Given the description of an element on the screen output the (x, y) to click on. 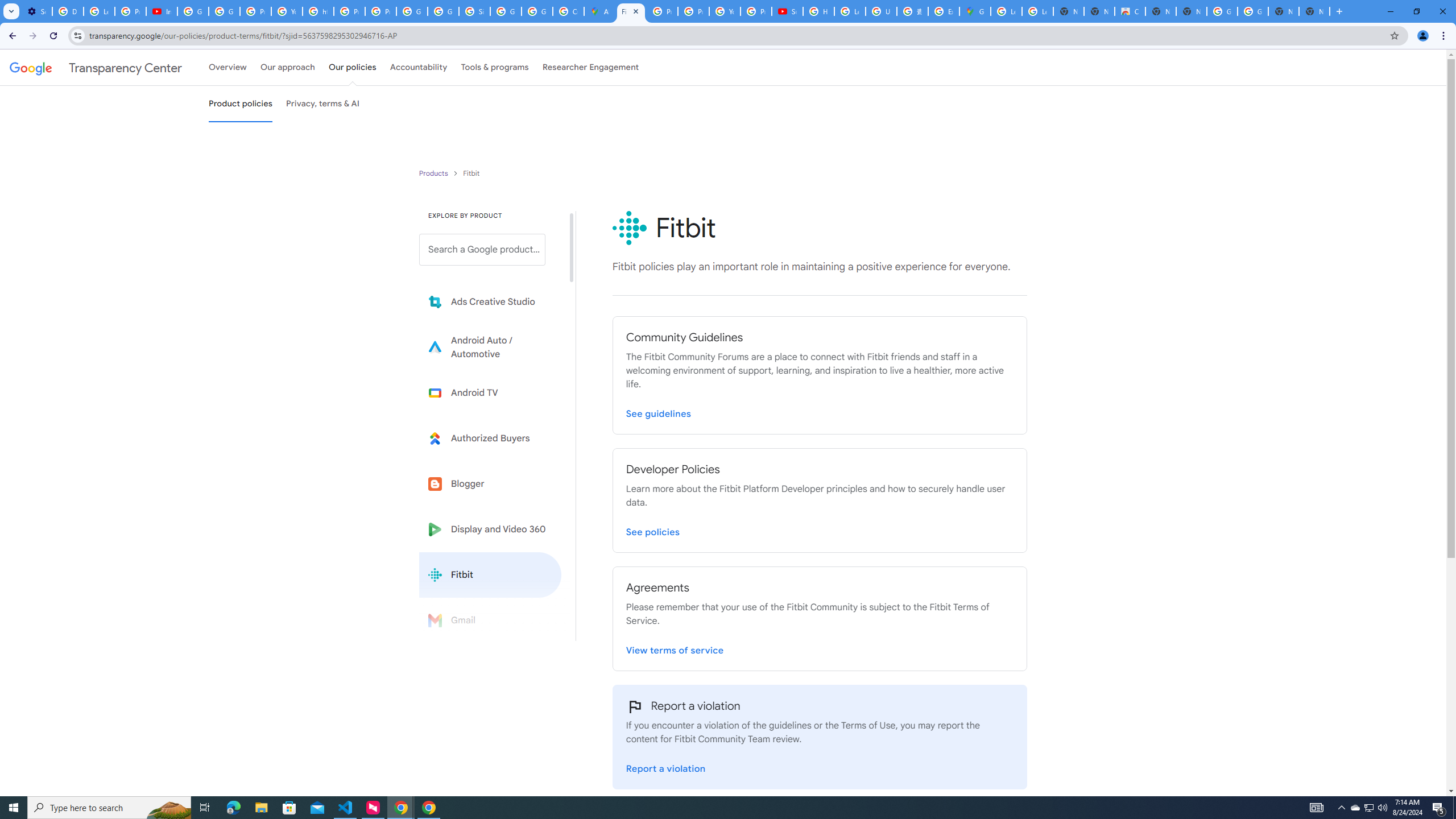
Learn more about Authorized Buyers (490, 438)
Privacy Help Center - Policies Help (662, 11)
Learn more about Ads Creative Studio (490, 302)
Google Maps (974, 11)
Our approach (287, 67)
